Given the description of an element on the screen output the (x, y) to click on. 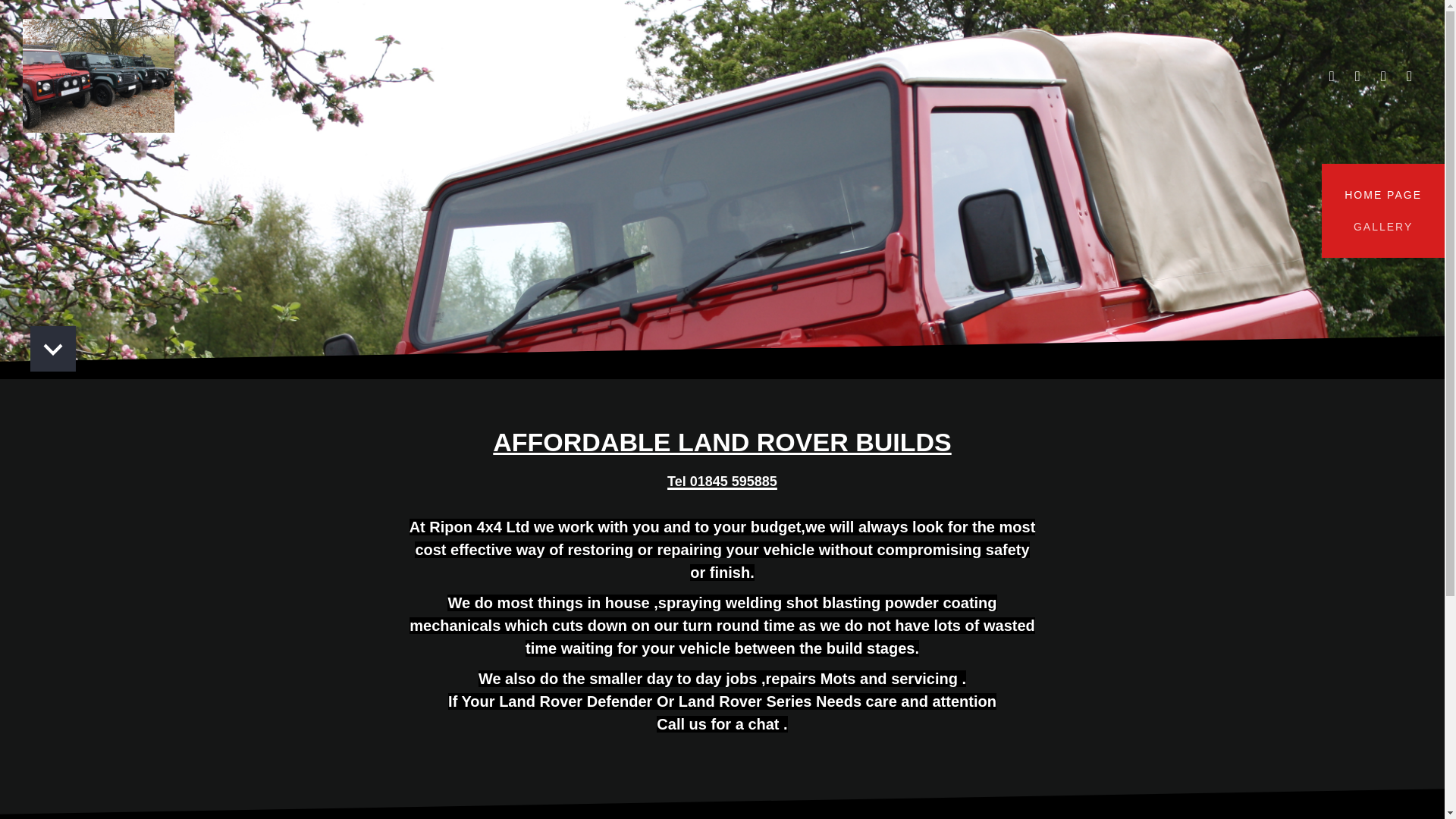
GALLERY (1383, 226)
logo (98, 75)
HOME PAGE (1383, 194)
